Given the description of an element on the screen output the (x, y) to click on. 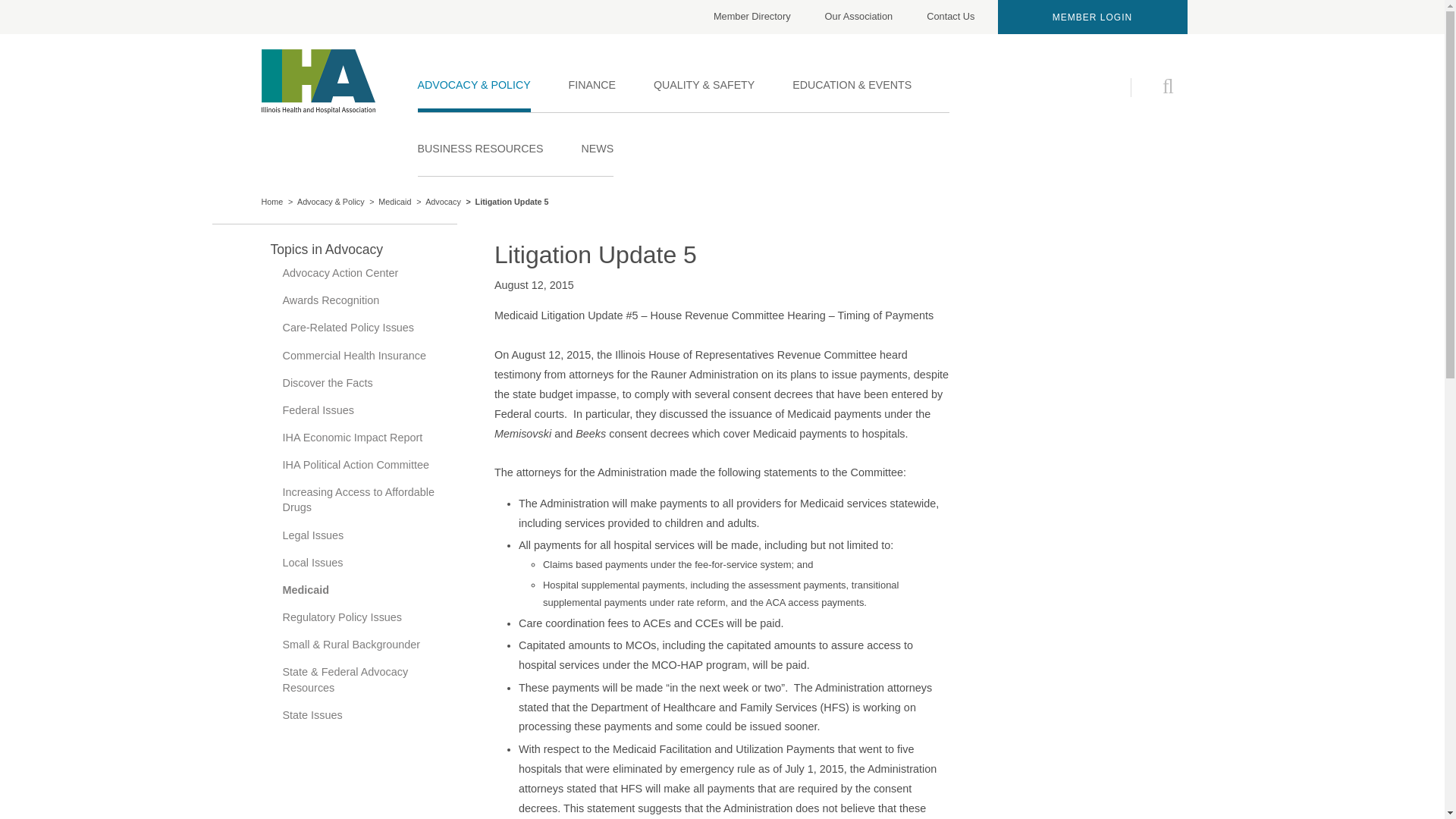
Increasing Access to Affordable Drugs (1092, 17)
Medicaid (366, 499)
Discover the Facts (394, 202)
Care-Related Policy Issues (366, 382)
IHA Economic Impact Report (366, 327)
Commercial Health Insurance (366, 437)
Legal Issues (366, 355)
Member Directory (366, 534)
BUSINESS RESOURCES (757, 16)
